Given the description of an element on the screen output the (x, y) to click on. 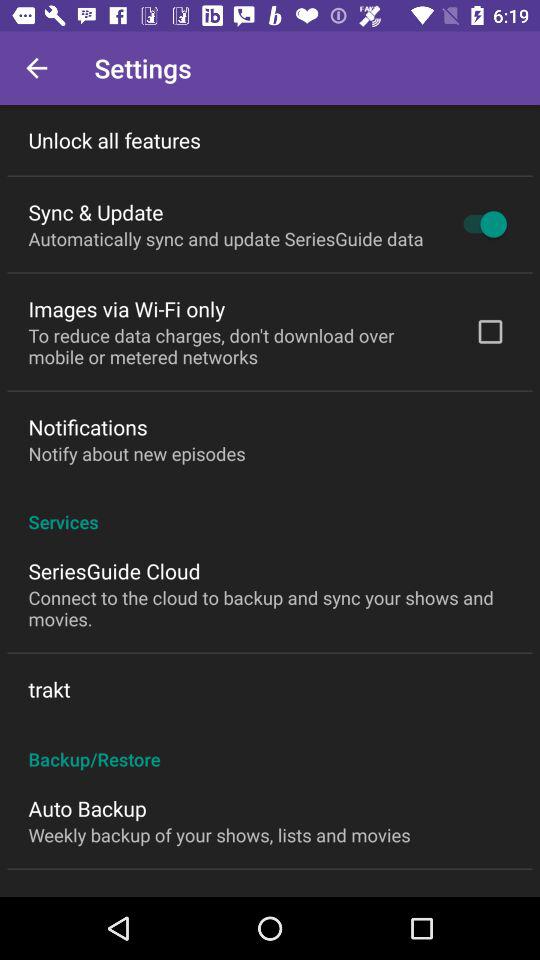
choose the icon above the trakt icon (269, 608)
